Given the description of an element on the screen output the (x, y) to click on. 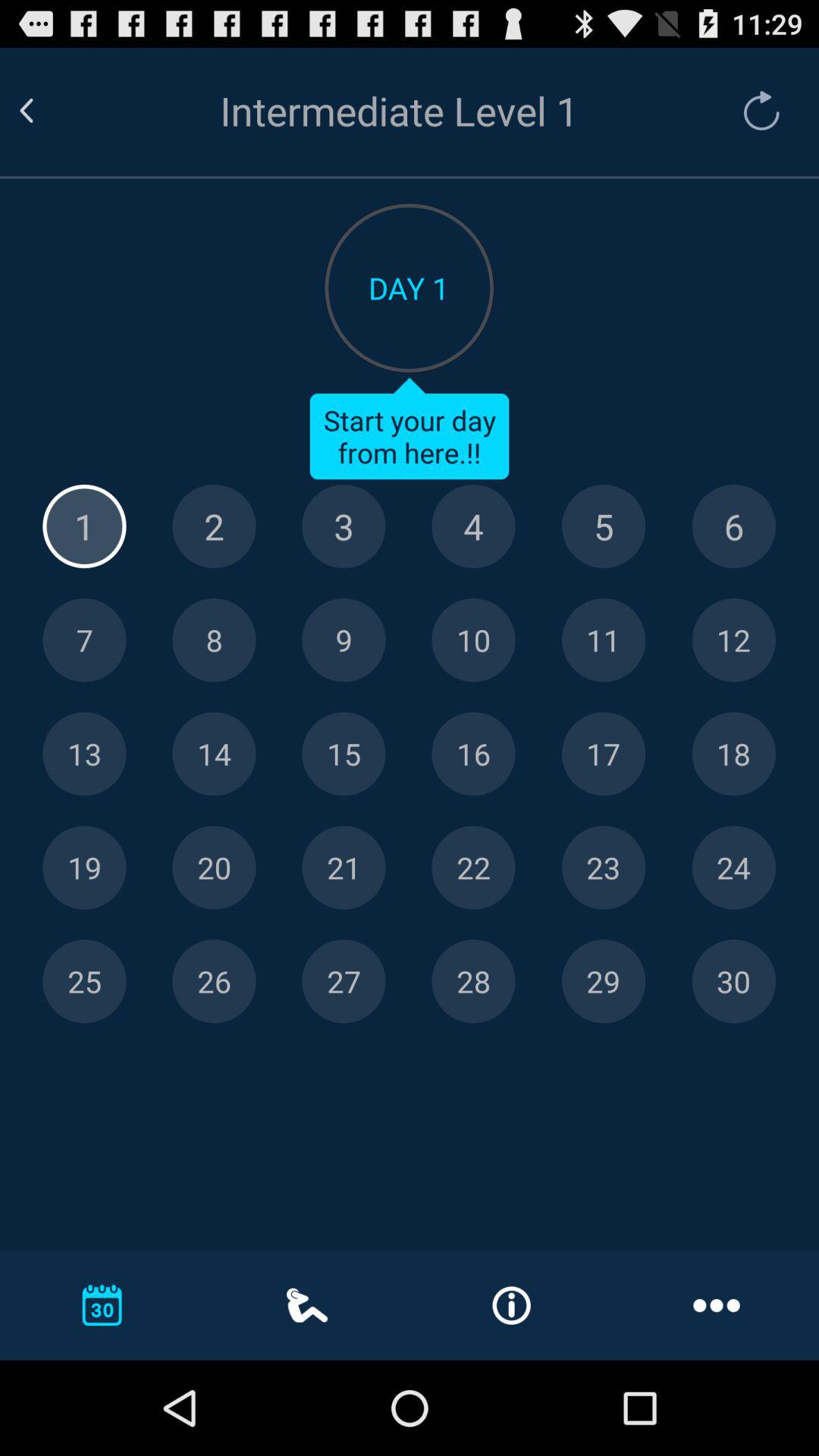
select day 10 (473, 639)
